Given the description of an element on the screen output the (x, y) to click on. 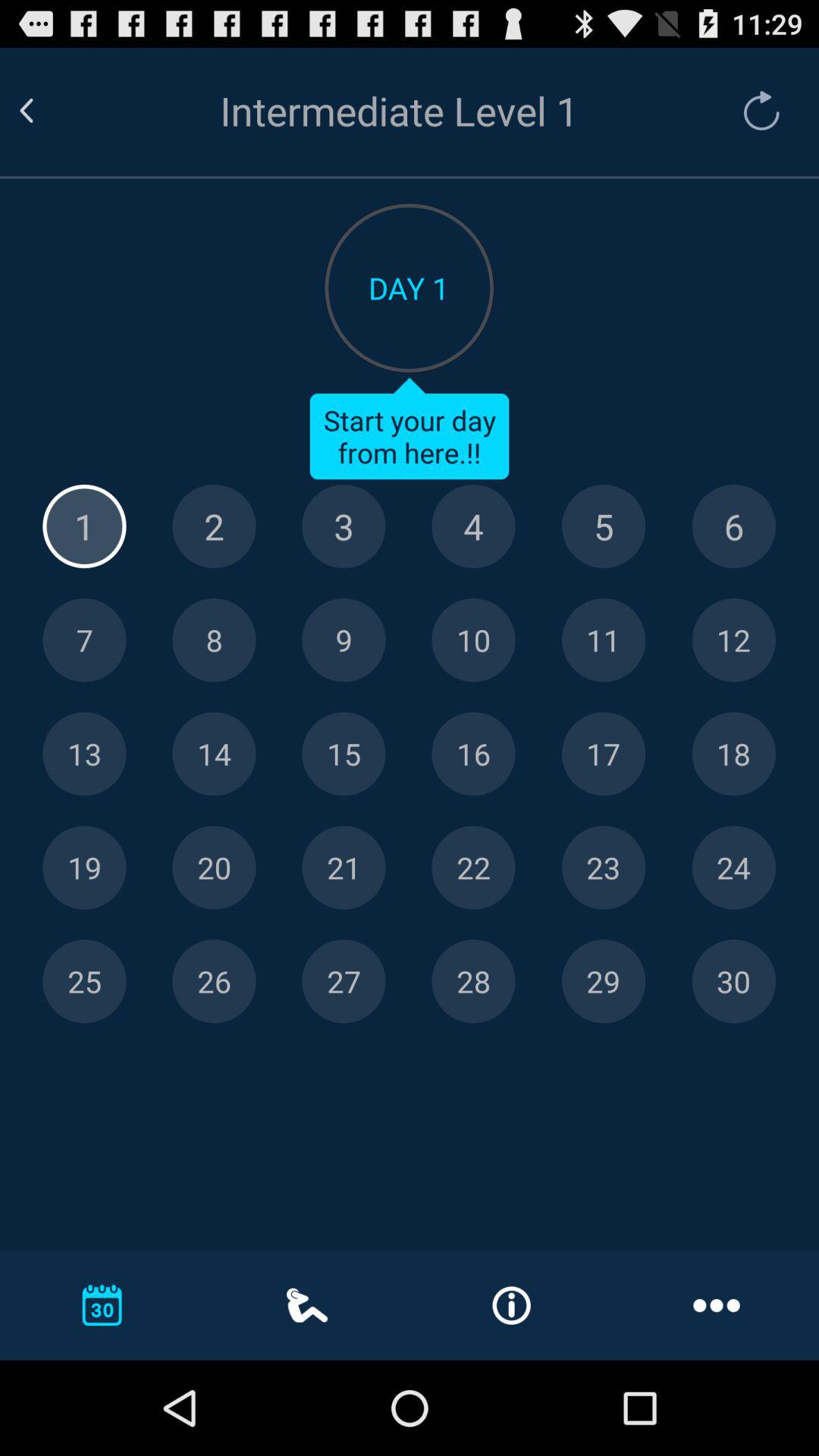
select day 10 (473, 639)
